Given the description of an element on the screen output the (x, y) to click on. 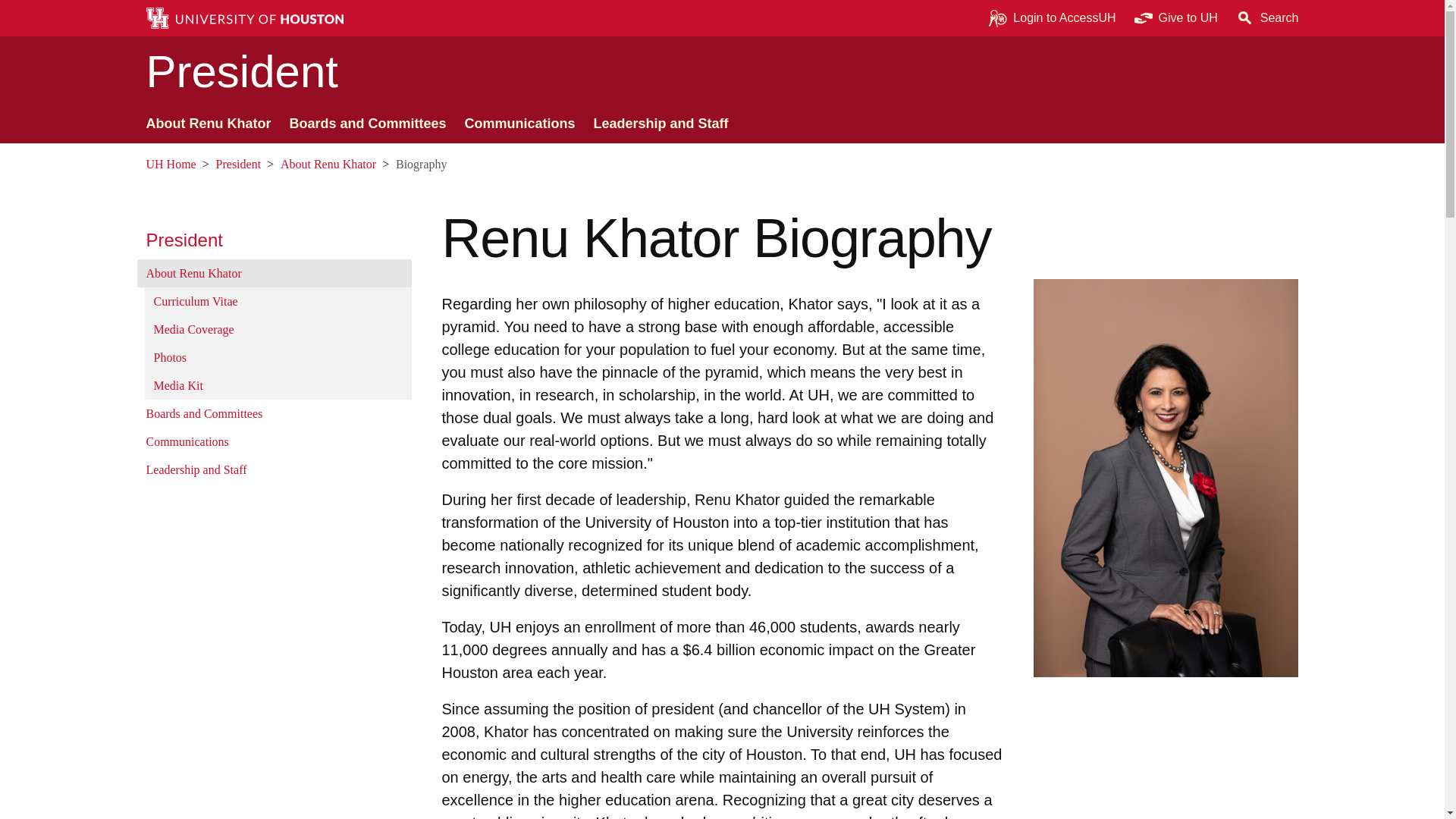
Leadership and Staff (661, 123)
Photos (277, 357)
Media Kit (277, 385)
University of Houston (154, 164)
Media Coverage (277, 329)
Leadership and Staff (273, 469)
University of Houston (1208, 17)
About Renu Khator (273, 273)
President (273, 239)
President (273, 239)
Communications (273, 441)
Communications (520, 123)
Boards and Committees (366, 123)
University of Houston (878, 709)
About Renu Khator (207, 123)
